Given the description of an element on the screen output the (x, y) to click on. 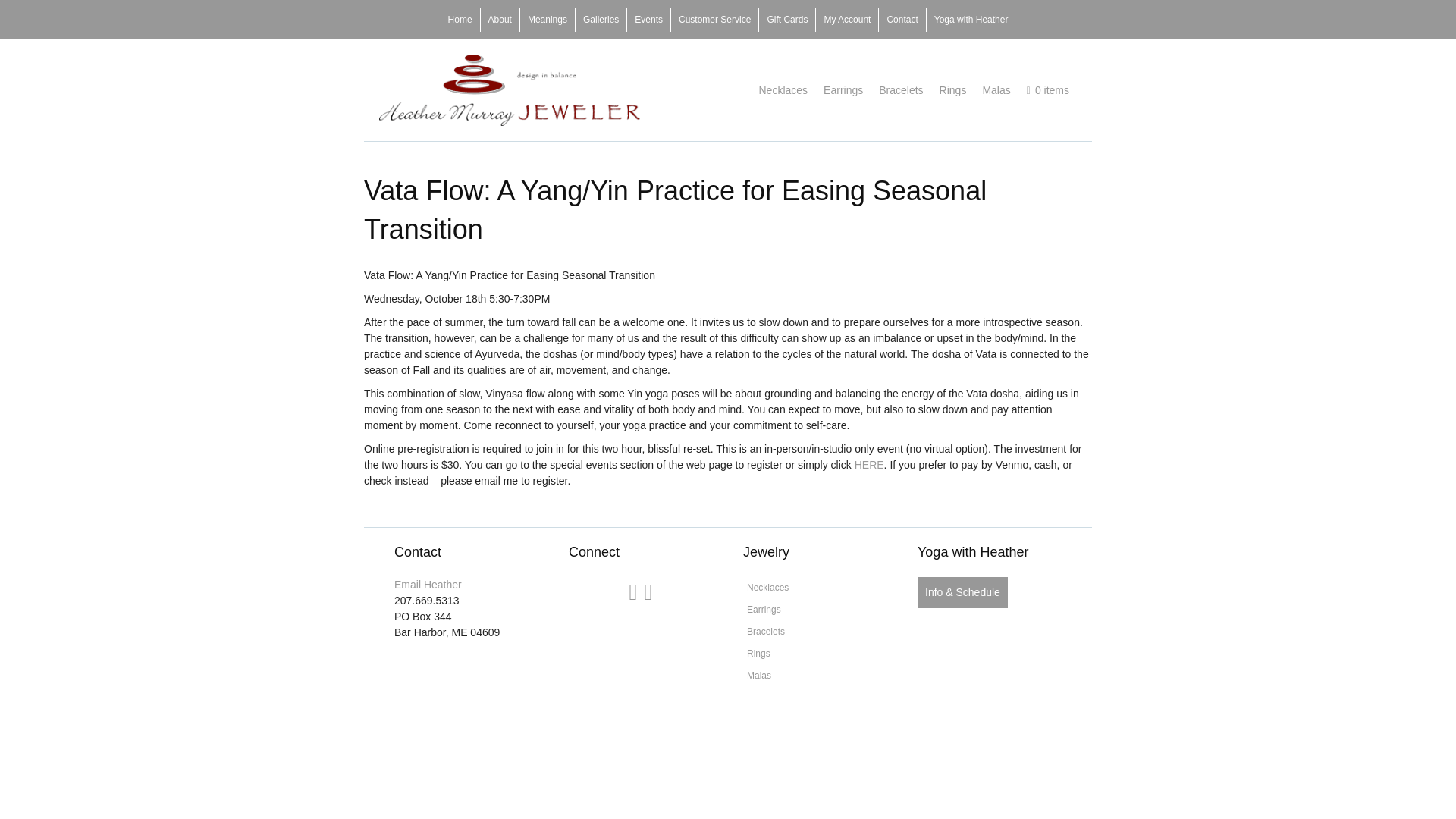
Galleries (600, 19)
My Account (846, 19)
Bracelets (814, 631)
Yoga with Heather (971, 19)
Events (648, 19)
Contact (901, 19)
HERE (868, 464)
Malas (995, 90)
Earrings (814, 608)
Necklaces (783, 90)
Bracelets (900, 90)
Meanings (547, 19)
Malas (814, 675)
Customer Service (714, 19)
Home (460, 19)
